Given the description of an element on the screen output the (x, y) to click on. 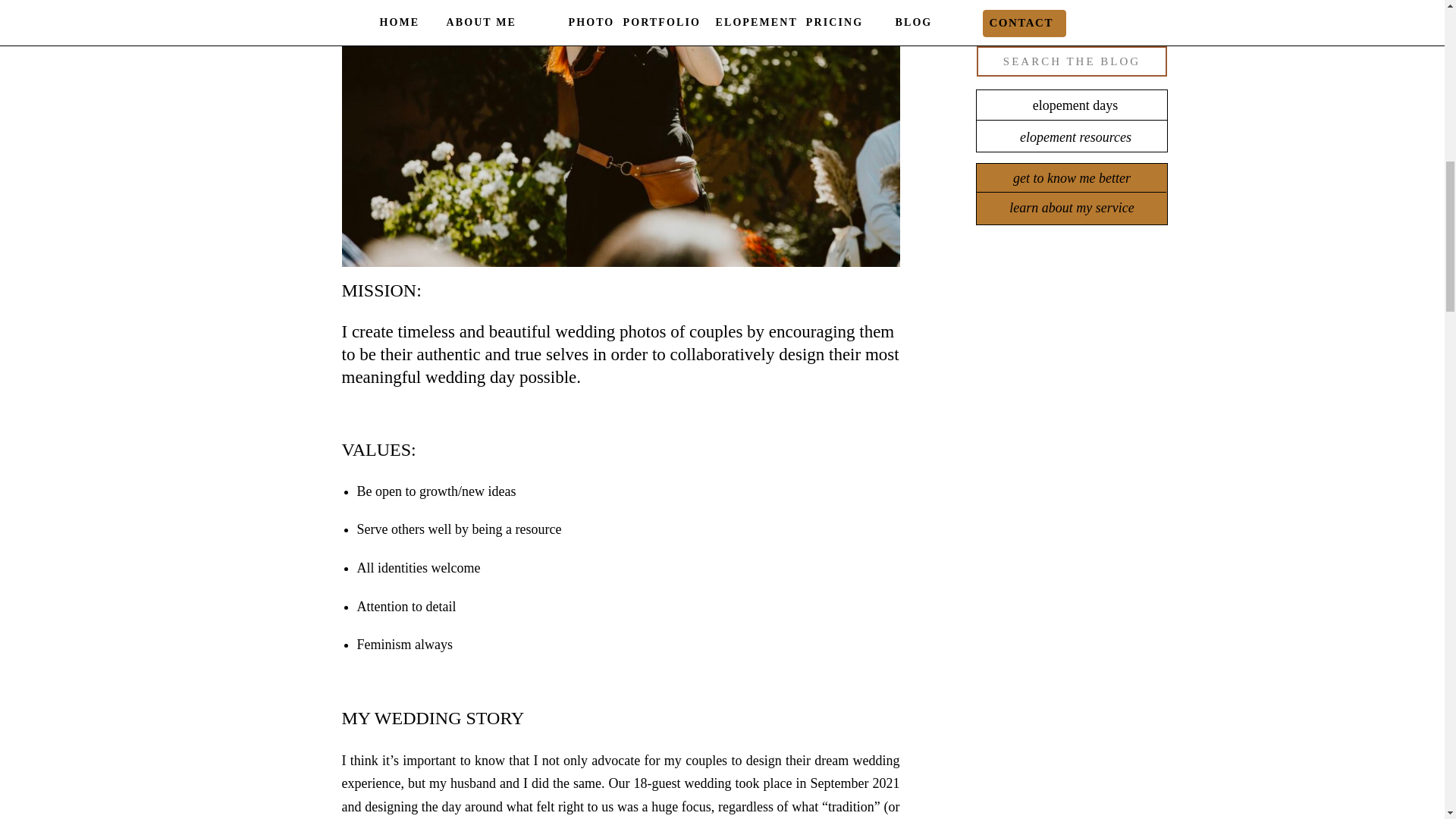
elopement resources (1075, 136)
get to know me better (1071, 178)
learn about my service (1071, 208)
elopement days (1075, 105)
